Given the description of an element on the screen output the (x, y) to click on. 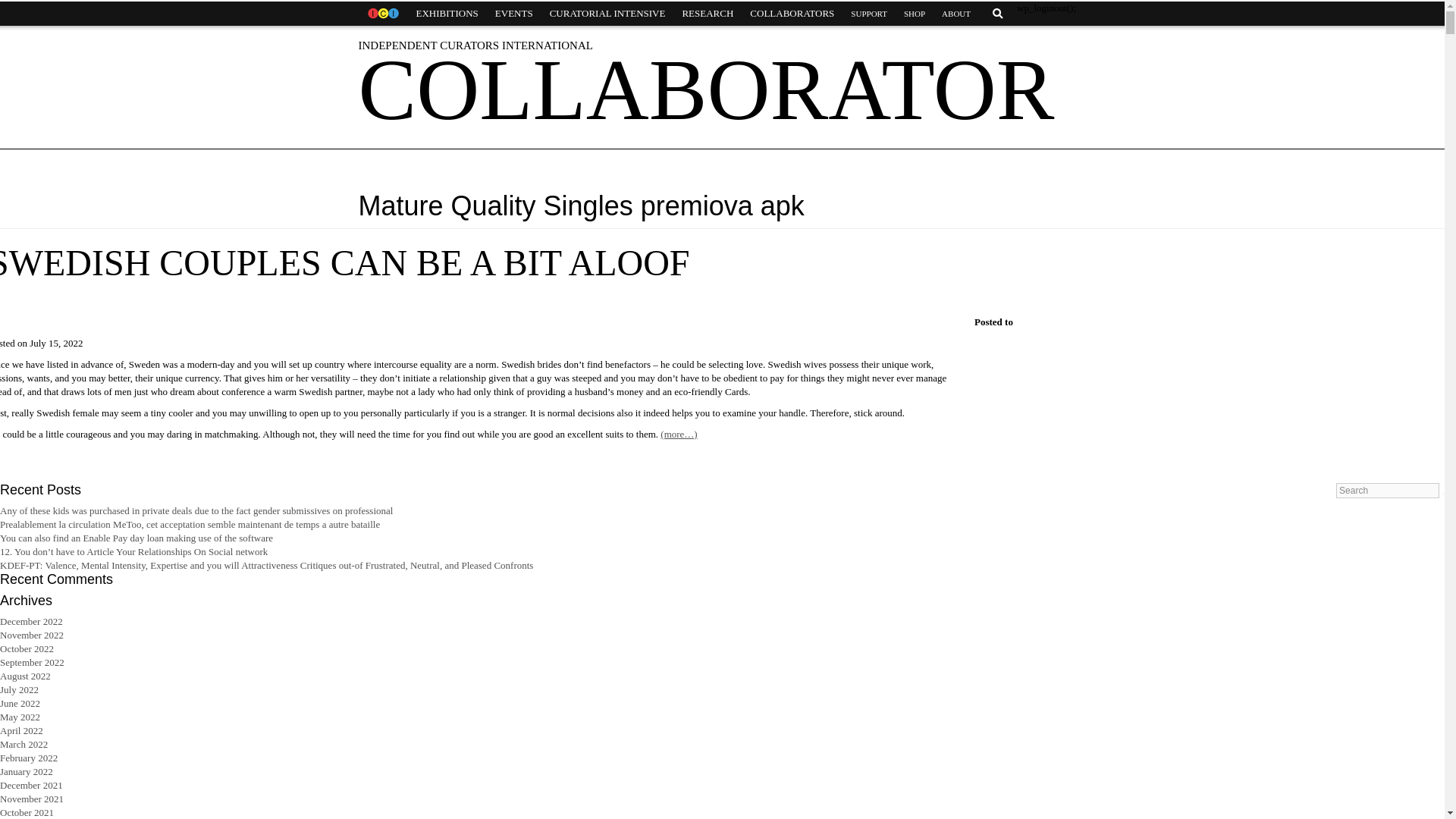
CURATORIAL INTENSIVE (607, 13)
EXHIBITIONS (446, 13)
RESEARCH (706, 13)
COLLABORATORS (792, 13)
HOME (382, 13)
EVENTS (513, 13)
